Given the description of an element on the screen output the (x, y) to click on. 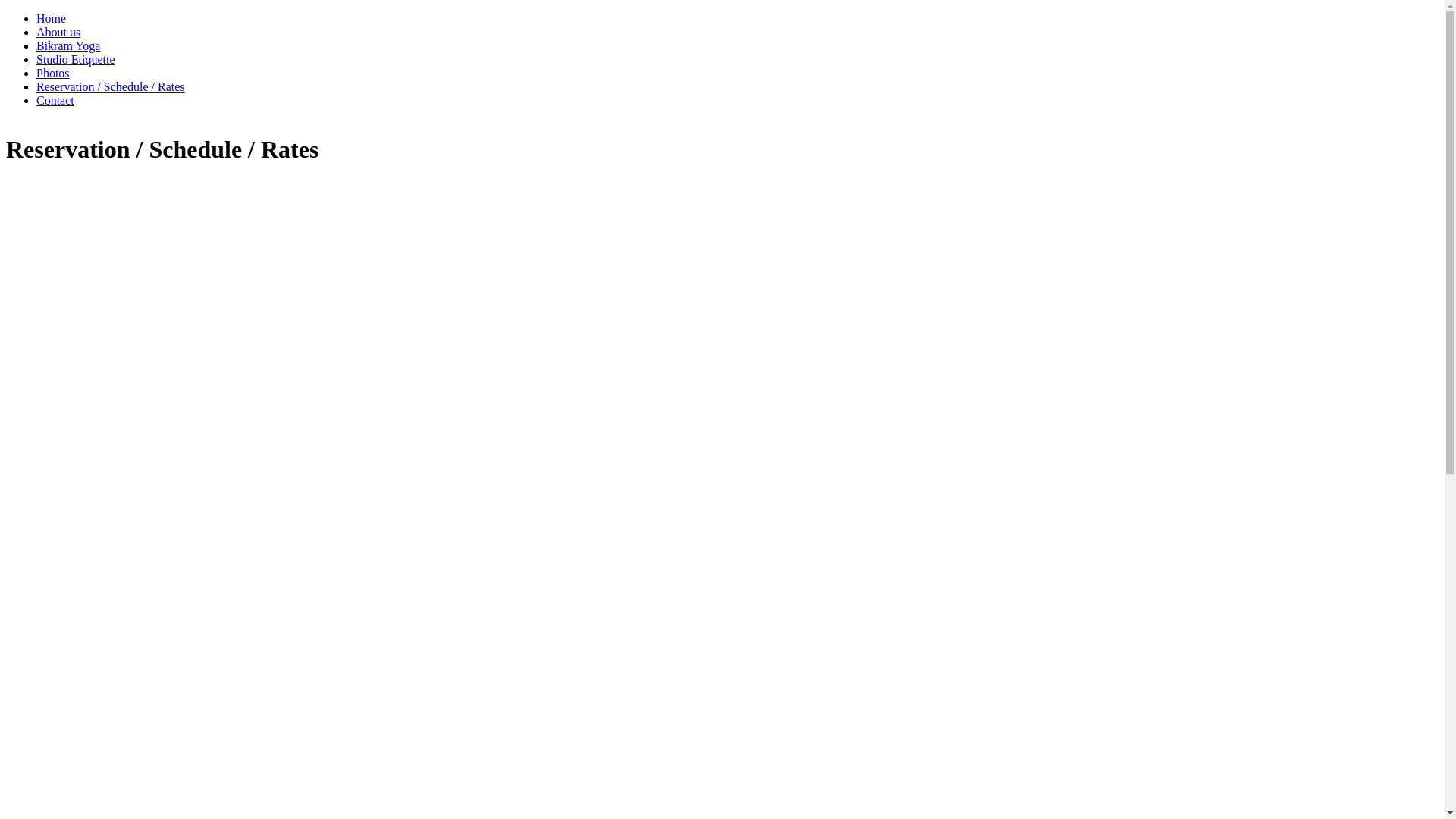
Photos Element type: text (52, 72)
Reservation / Schedule / Rates Element type: text (110, 86)
About us Element type: text (58, 31)
Bikram Yoga Element type: text (68, 45)
Contact Element type: text (55, 100)
Home Element type: text (50, 18)
Skip to main content Element type: text (56, 12)
Studio Etiquette Element type: text (75, 59)
